Given the description of an element on the screen output the (x, y) to click on. 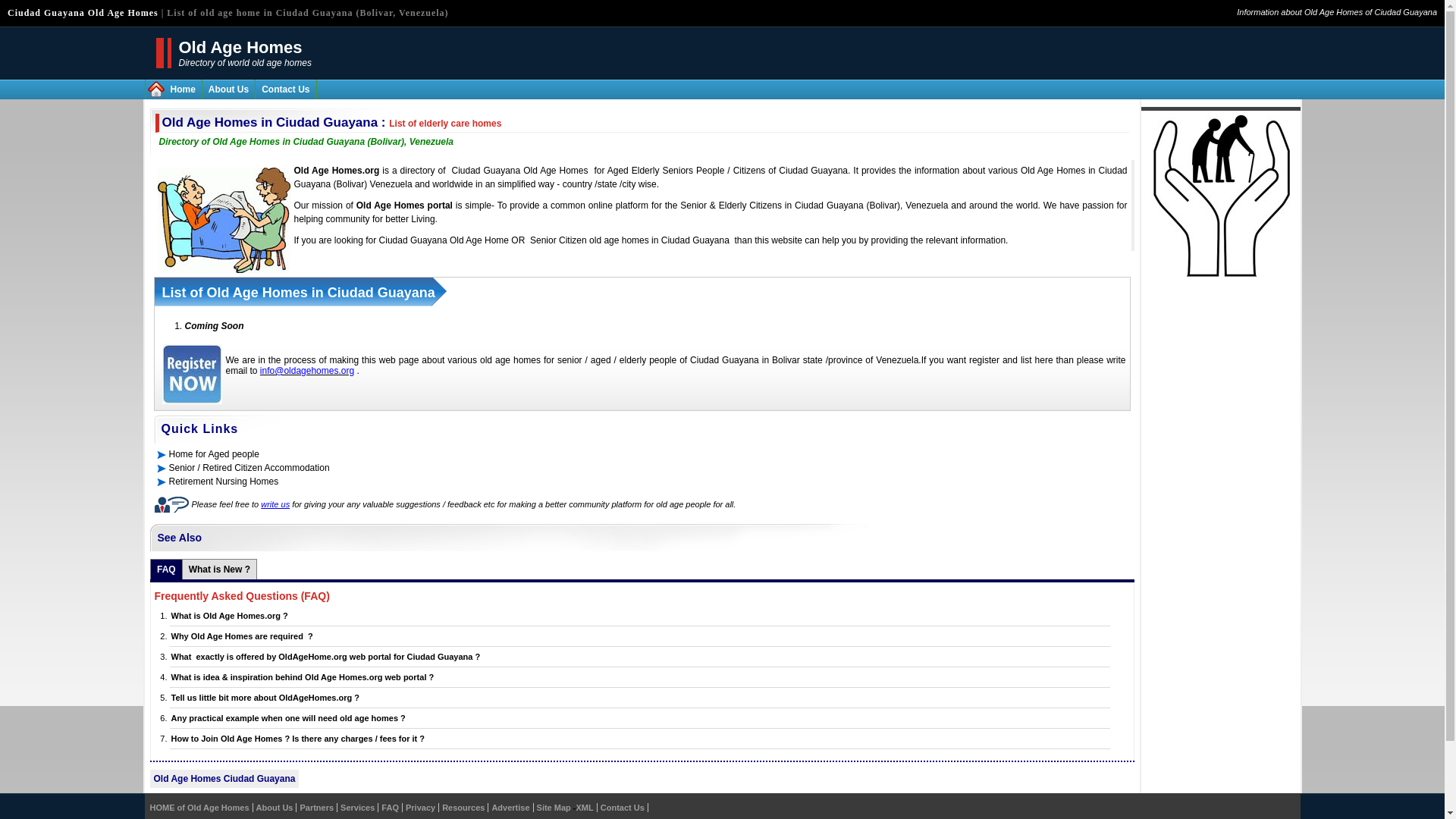
What is New ? (220, 569)
Home (181, 89)
About Us (228, 89)
Home of Old Age People (181, 89)
Old Age Homes in Ciudad Guayana : List of elderly care homes (331, 122)
Services (357, 807)
Old Age Homes Ciudad Guayana (223, 778)
About Us (275, 807)
FAQ (389, 807)
old age homes in Ciudad Guayana (659, 240)
HOME of Old Age Homes (198, 807)
FAQ (167, 569)
Contact Us (285, 89)
Privacy (420, 807)
Partners (316, 807)
